Given the description of an element on the screen output the (x, y) to click on. 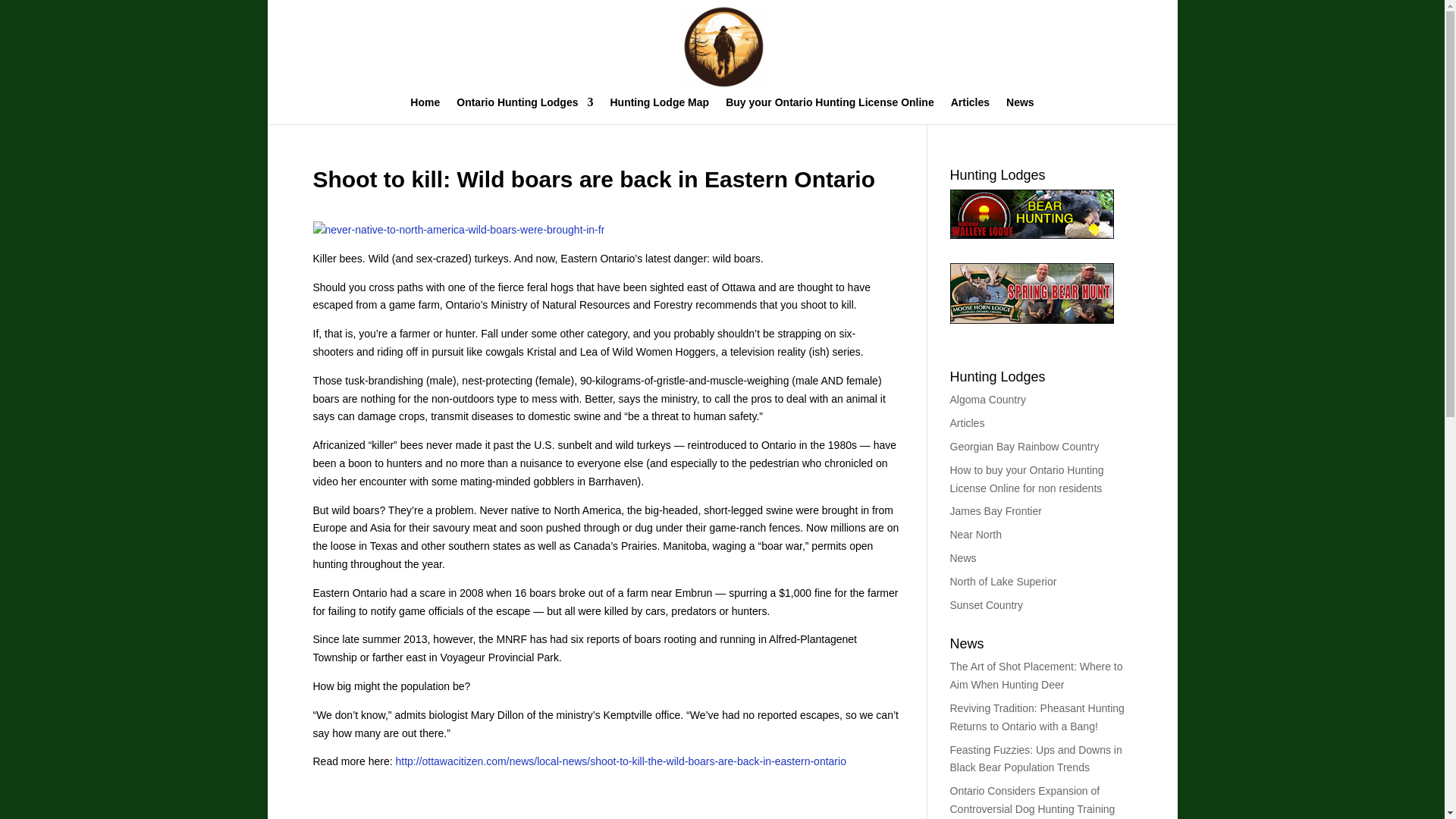
News (962, 558)
Ontario Hunting Lodges (524, 110)
Buy your Ontario Hunting License Online (829, 110)
North of Lake Superior (1003, 581)
Articles (970, 110)
Algoma Country (987, 399)
James Bay Frontier (995, 510)
Hunting Lodge Map (659, 110)
Georgian Bay Rainbow Country (1024, 446)
